Given the description of an element on the screen output the (x, y) to click on. 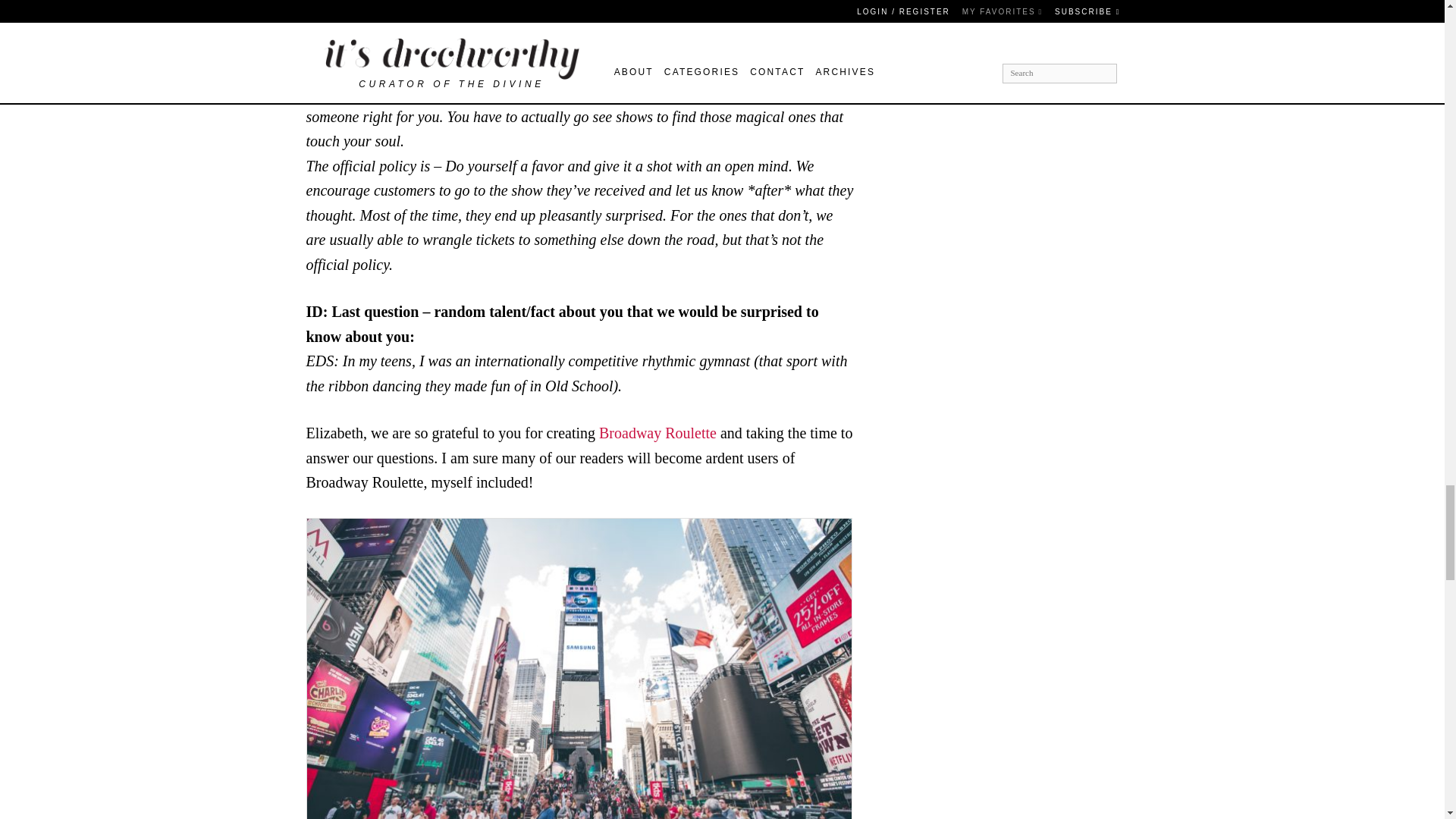
Broadway Roulette (657, 433)
